Given the description of an element on the screen output the (x, y) to click on. 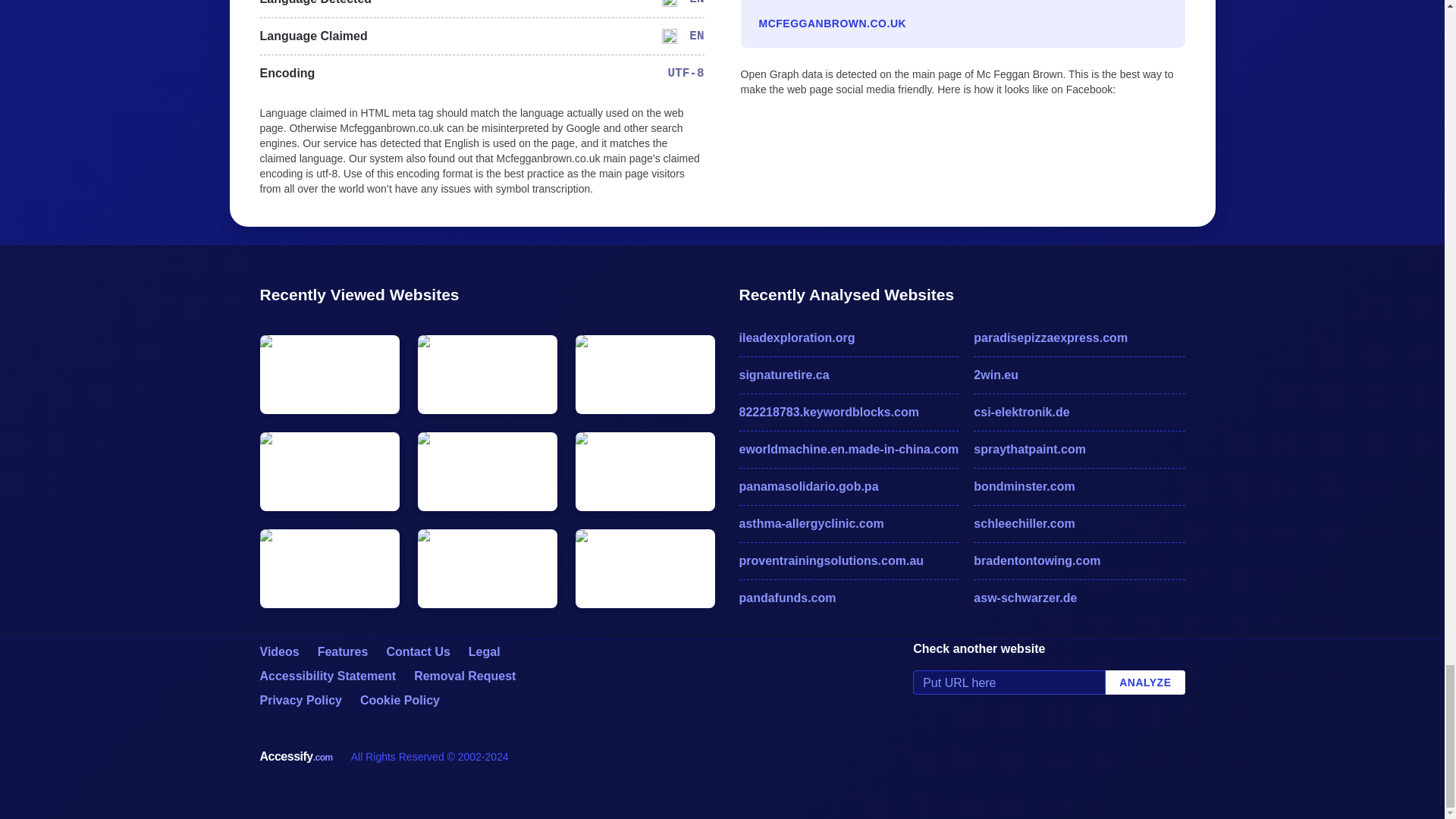
proventrainingsolutions.com.au (848, 561)
bondminster.com (1079, 486)
csi-elektronik.de (1079, 412)
Features (342, 651)
panamasolidario.gob.pa (848, 486)
ileadexploration.org (848, 338)
eworldmachine.en.made-in-china.com (848, 449)
pandafunds.com (848, 597)
Legal (484, 651)
signaturetire.ca (848, 375)
Videos (278, 651)
asw-schwarzer.de (1079, 597)
paradisepizzaexpress.com (1079, 338)
bradentontowing.com (1079, 561)
Contact Us (417, 651)
